Given the description of an element on the screen output the (x, y) to click on. 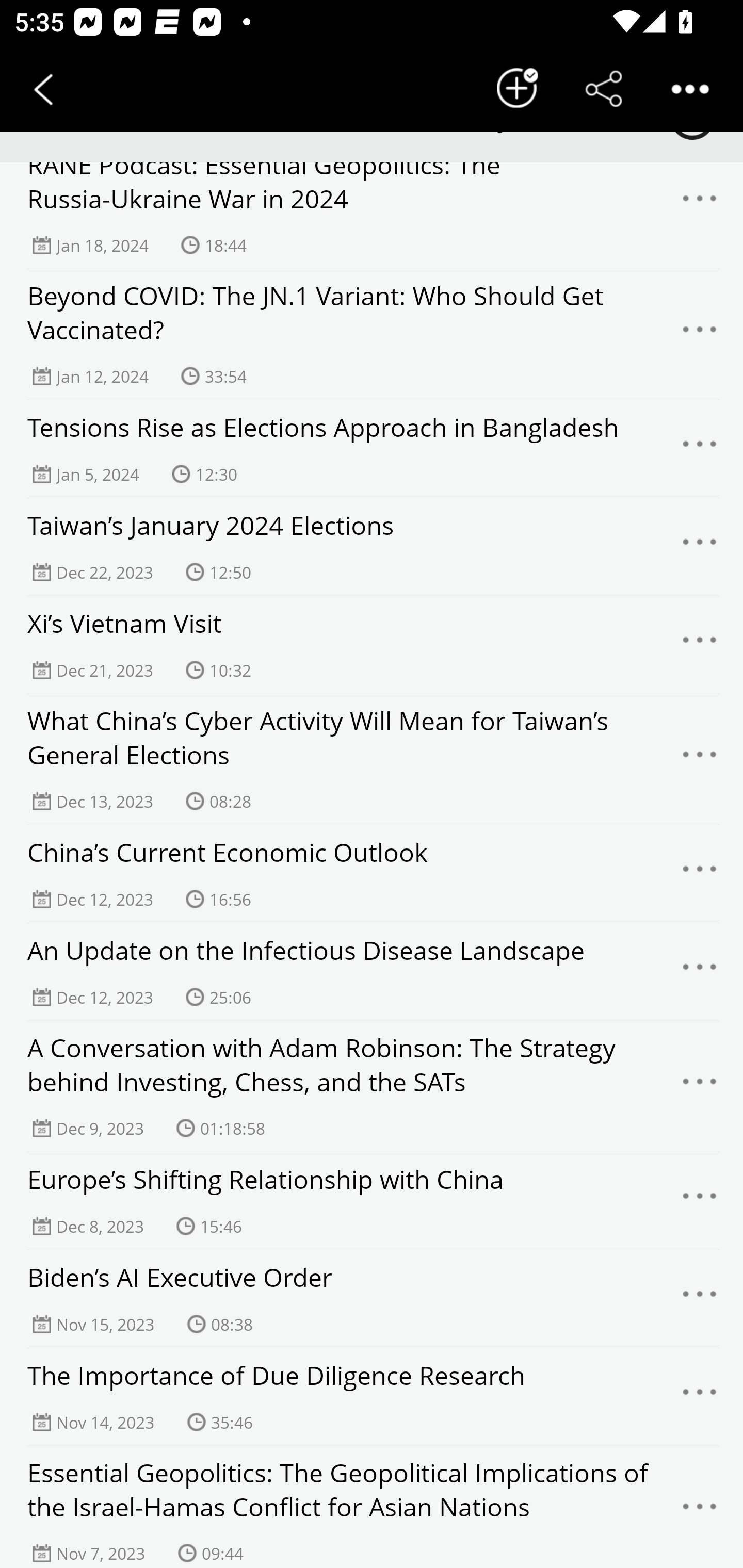
Back (43, 88)
Menu (699, 205)
Menu (699, 334)
Menu (699, 449)
Menu (699, 547)
Xi’s Vietnam Visit Dec 21, 2023 10:32 Menu (371, 644)
Menu (699, 645)
Menu (699, 759)
Menu (699, 874)
Menu (699, 972)
Menu (699, 1086)
Menu (699, 1200)
Biden’s AI Executive Order Nov 15, 2023 08:38 Menu (371, 1298)
Menu (699, 1298)
Menu (699, 1396)
Menu (699, 1512)
